Given the description of an element on the screen output the (x, y) to click on. 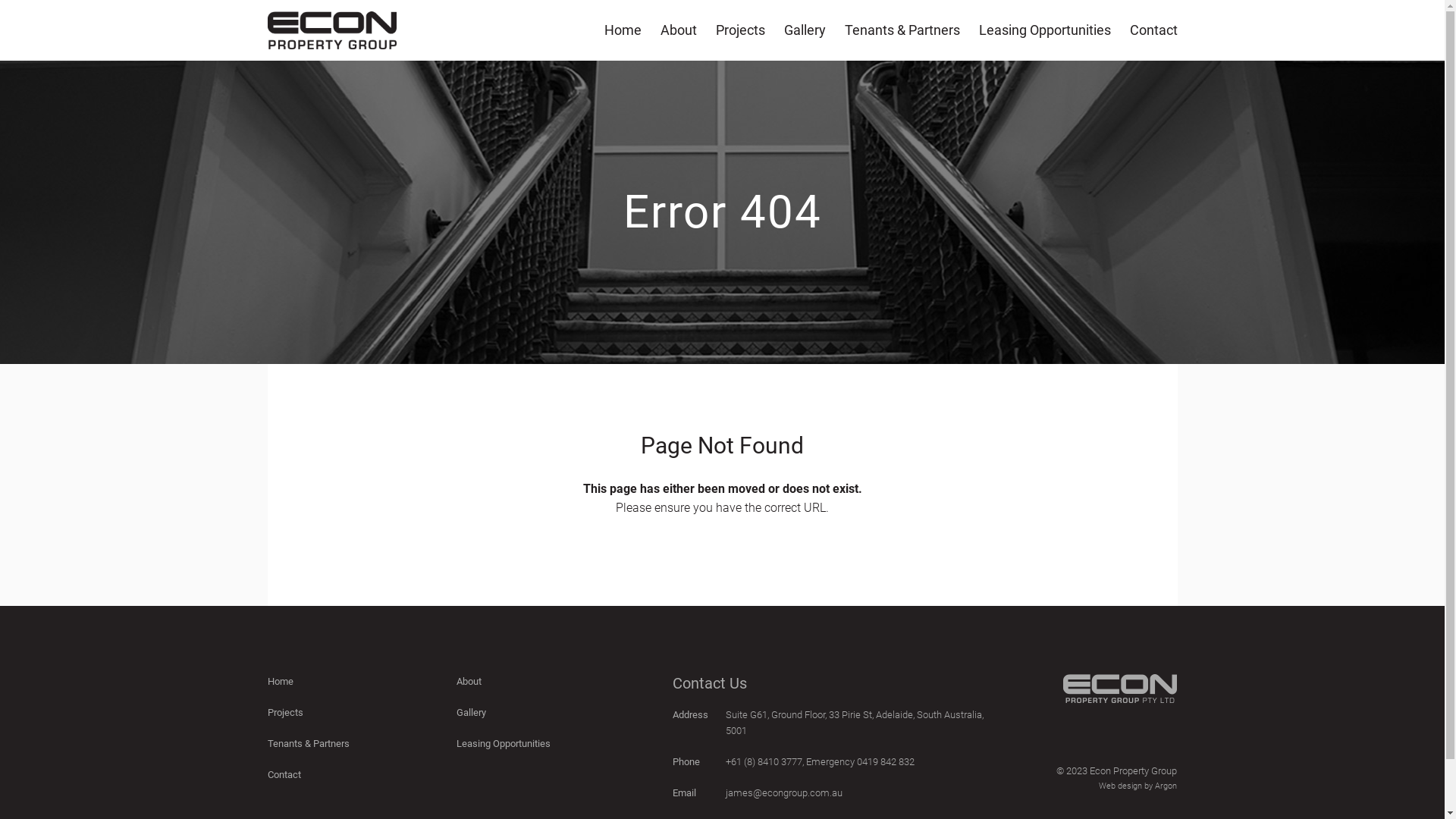
Home Element type: text (621, 30)
Web design Element type: text (1120, 785)
Tenants & Partners Element type: text (307, 743)
Projects Element type: text (284, 712)
Home Element type: text (279, 681)
Gallery Element type: text (804, 30)
Contact Element type: text (1153, 30)
Projects Element type: text (740, 30)
Contact Element type: text (283, 774)
About Element type: text (677, 30)
james@econgroup.com.au Element type: text (783, 792)
About Element type: text (468, 681)
Leasing Opportunities Element type: text (1044, 30)
Tenants & Partners Element type: text (902, 30)
Gallery Element type: text (471, 712)
Leasing Opportunities Element type: text (503, 743)
